Given the description of an element on the screen output the (x, y) to click on. 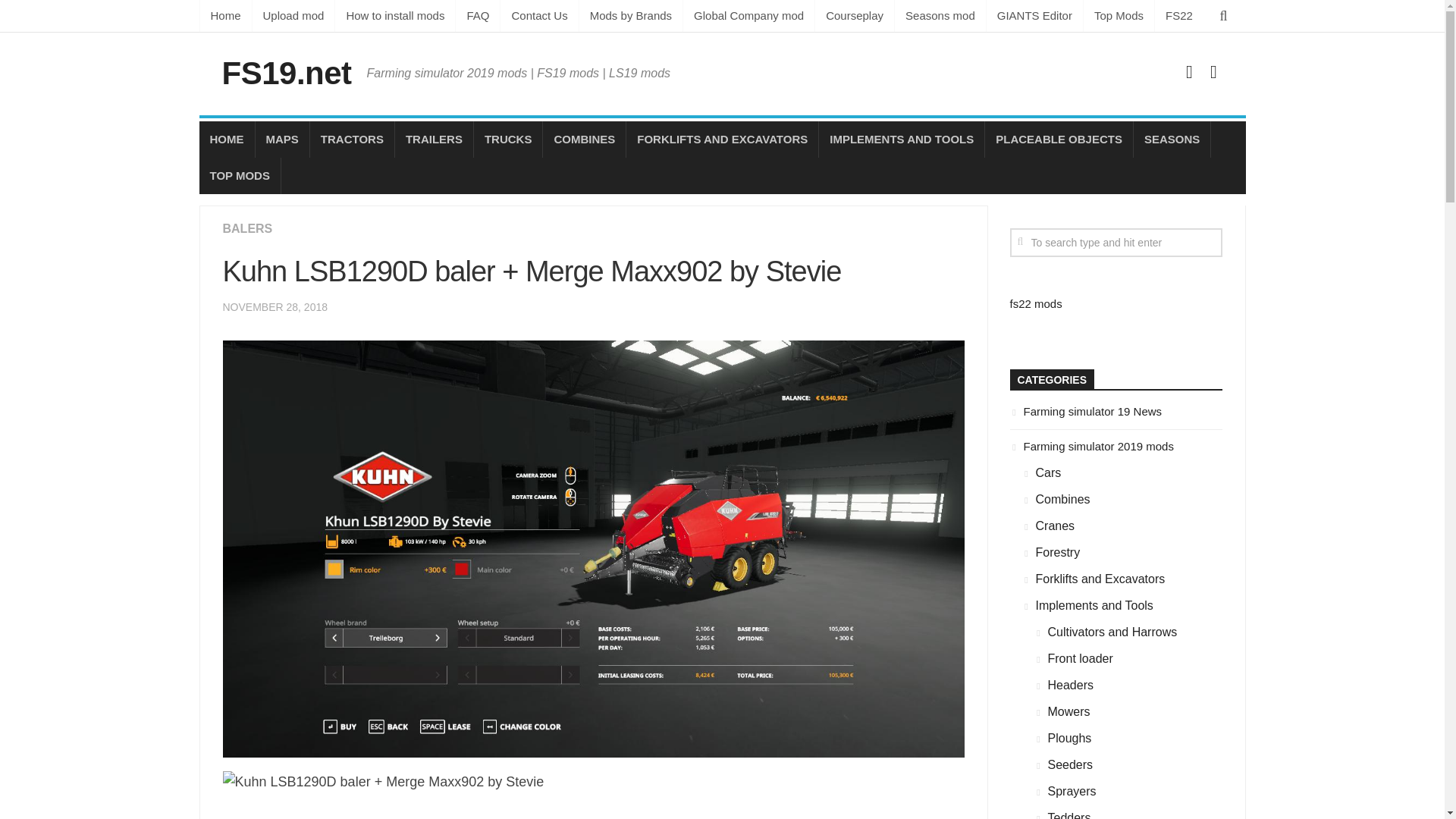
SEASONS (1171, 139)
Seasons mod (940, 15)
To search type and hit enter (1116, 242)
MAPS (281, 139)
Mods by Brands (630, 15)
FS22 (1179, 15)
HOME (225, 139)
Contact Us (539, 15)
Twitter (1188, 72)
PLACEABLE OBJECTS (1058, 139)
